Given the description of an element on the screen output the (x, y) to click on. 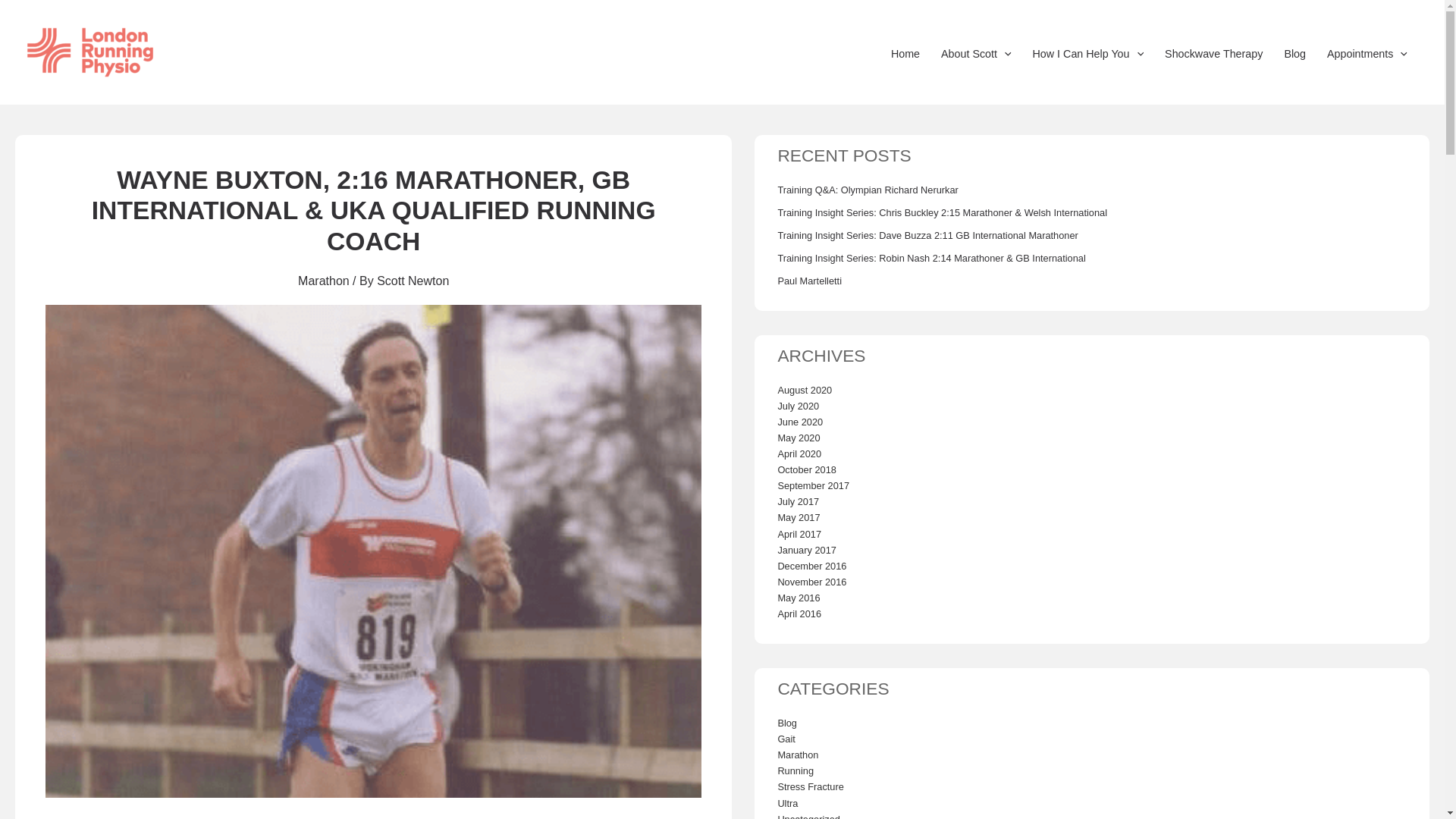
About Scott (976, 46)
View all posts by Scott Newton (412, 280)
How I Can Help You (1088, 46)
Scott Newton (412, 280)
Shockwave Therapy (1213, 46)
Appointments (1367, 46)
Marathon (323, 280)
